Given the description of an element on the screen output the (x, y) to click on. 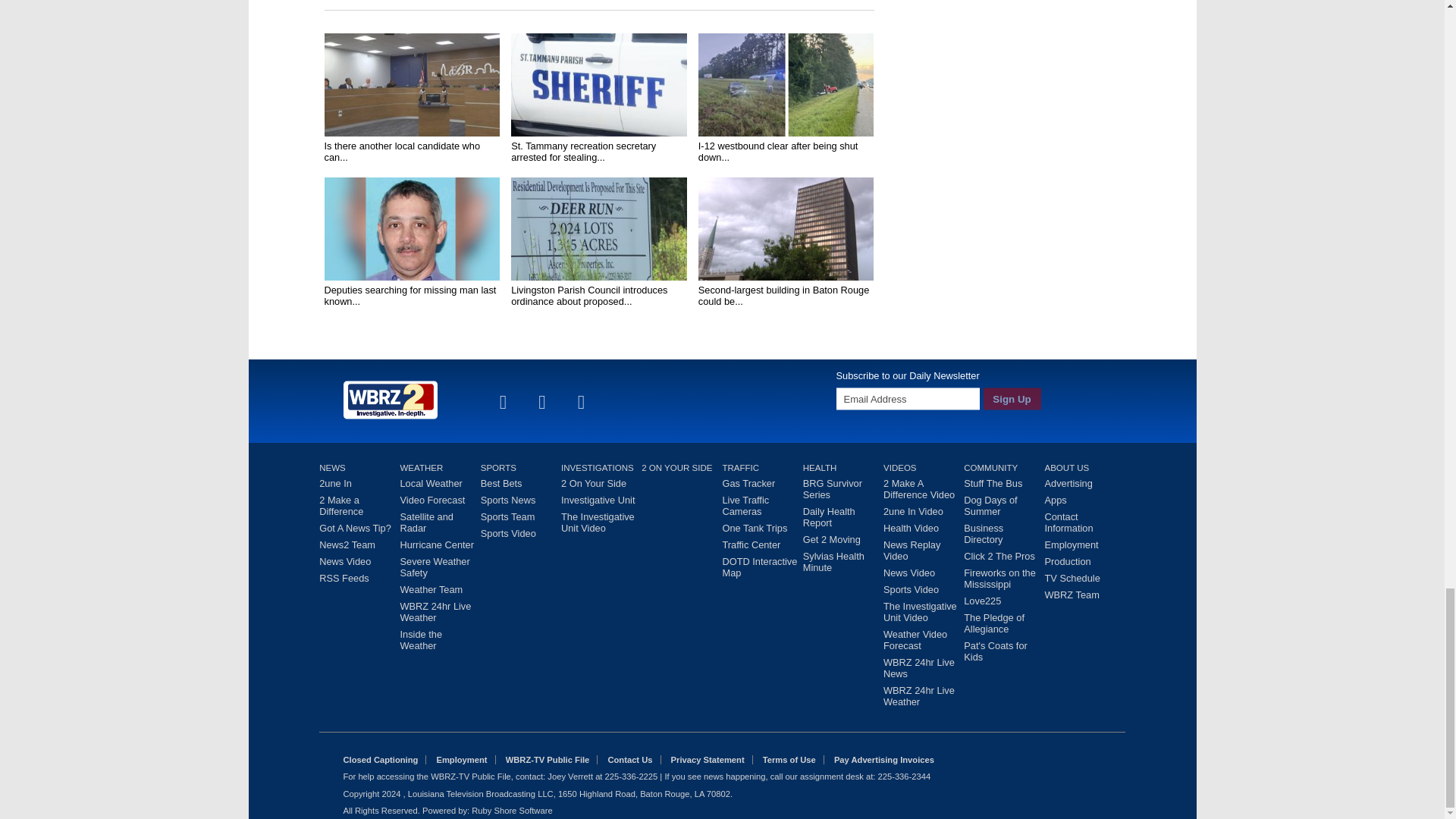
Sign Up (1011, 398)
